Given the description of an element on the screen output the (x, y) to click on. 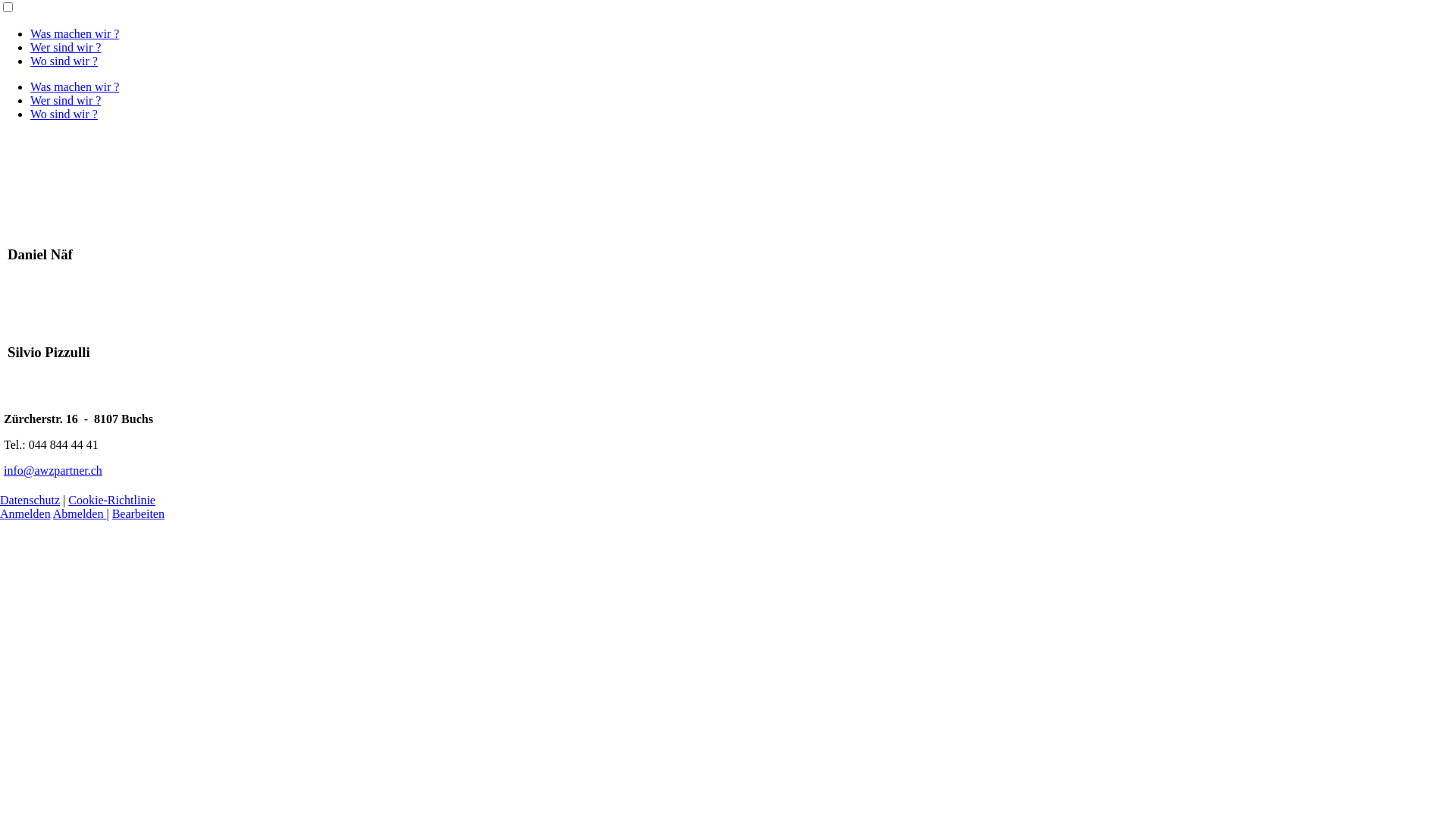
Wo sind wir ? Element type: text (63, 113)
Datenschutz Element type: text (29, 499)
Cookie-Richtlinie Element type: text (111, 499)
Abmelden Element type: text (79, 513)
Was machen wir ? Element type: text (74, 33)
Anmelden Element type: text (25, 513)
Wer sind wir ? Element type: text (65, 100)
Wo sind wir ? Element type: text (63, 60)
Wer sind wir ? Element type: text (65, 46)
Bearbeiten Element type: text (138, 513)
Was machen wir ? Element type: text (74, 86)
info@awzpartner.ch Element type: text (52, 470)
